Given the description of an element on the screen output the (x, y) to click on. 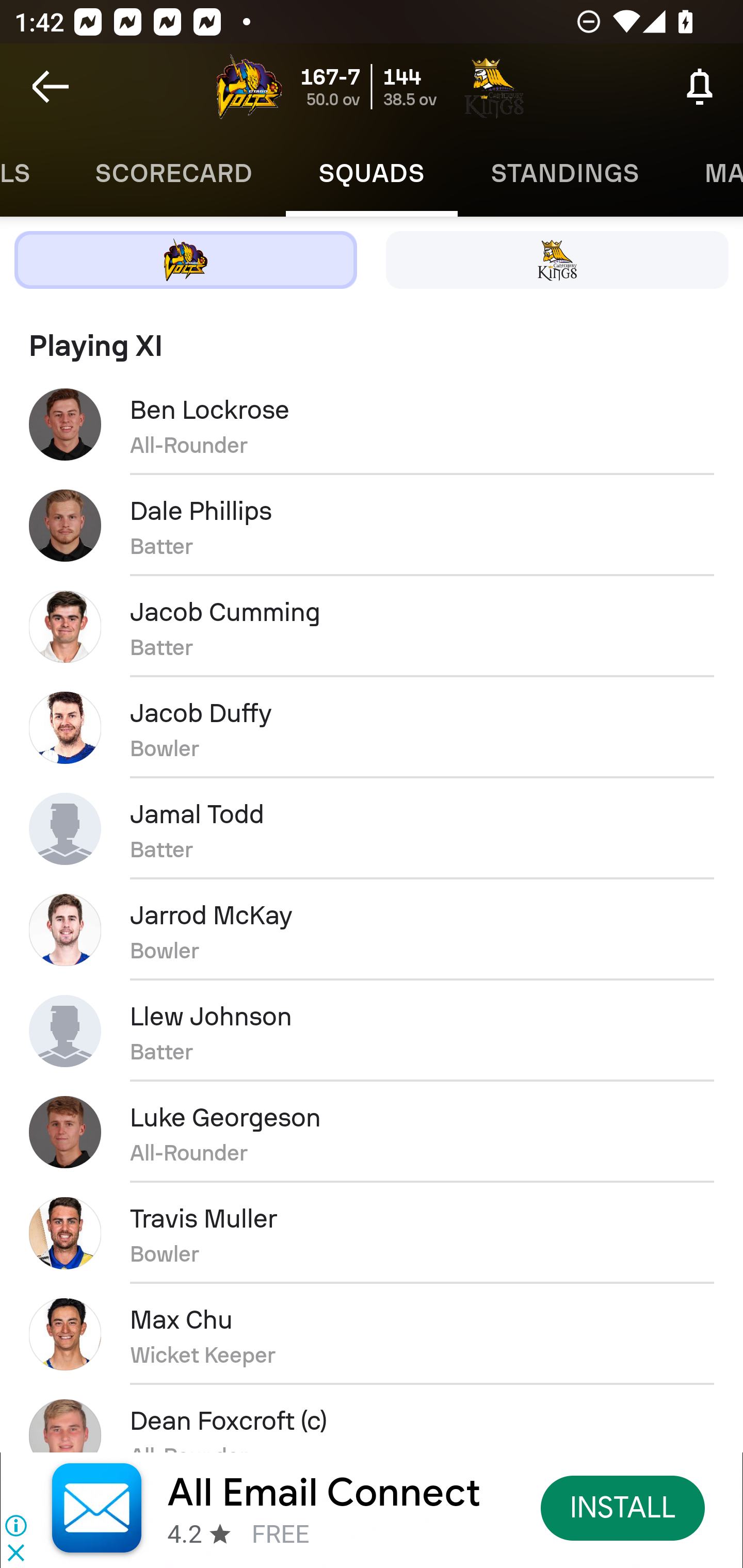
Navigate up (50, 86)
Scorecard SCORECARD (174, 173)
Standings STANDINGS (563, 173)
Playing XI (371, 337)
Ben Lockrose All-Rounder (371, 424)
Dale Phillips Batter (371, 525)
Jacob Cumming Batter (371, 626)
Jacob Duffy Bowler (371, 727)
Jamal Todd Batter (371, 828)
Jarrod McKay Bowler (371, 929)
Llew Johnson Batter (371, 1030)
Luke Georgeson All-Rounder (371, 1131)
Travis Muller Bowler (371, 1233)
Max Chu Wicket Keeper (371, 1334)
Dean Foxcroft (c) All-Rounder (371, 1417)
All Email Connect (324, 1493)
INSTALL (623, 1507)
